Given the description of an element on the screen output the (x, y) to click on. 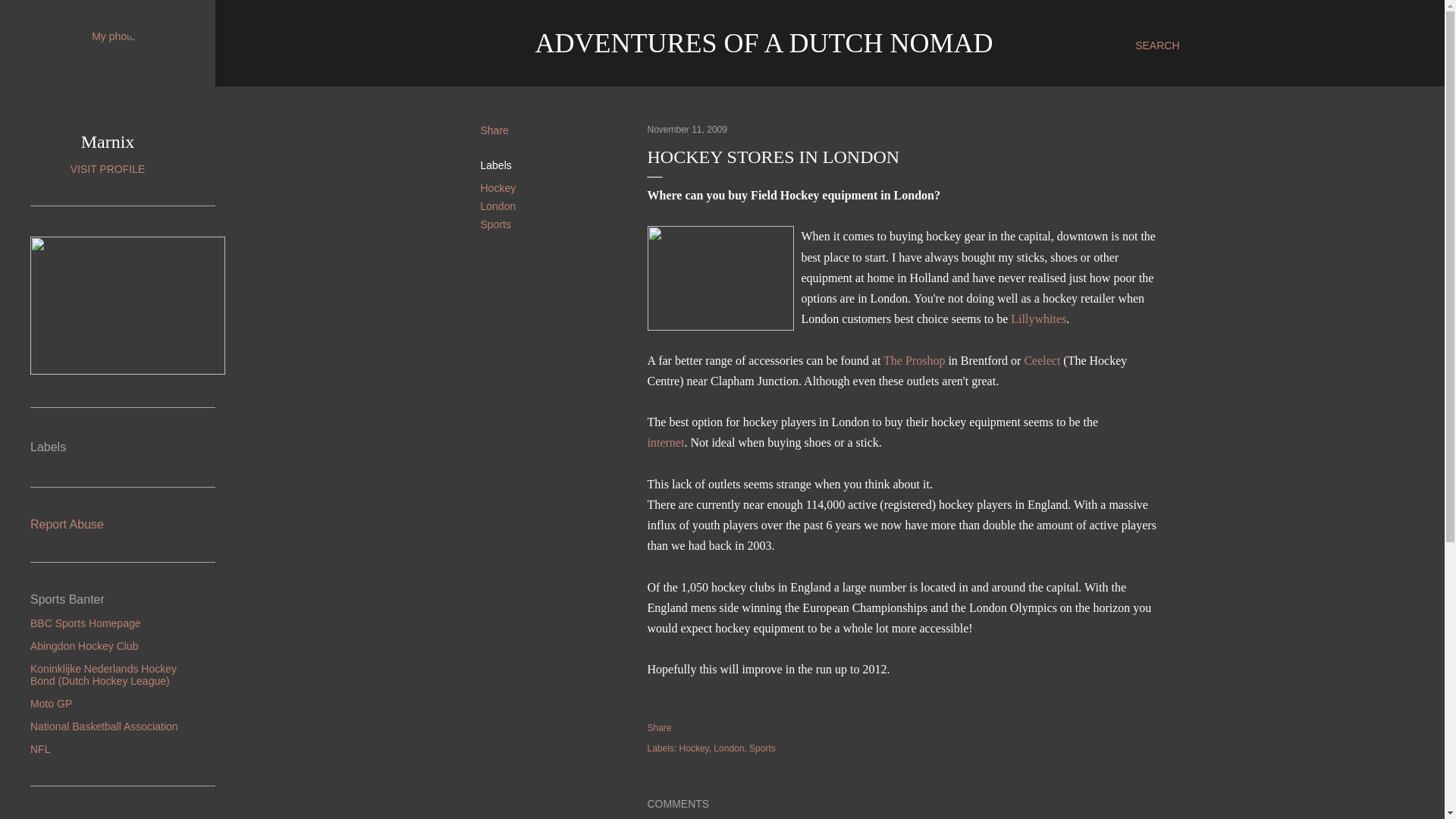
Ceele (1037, 359)
The Proshop (913, 359)
ADVENTURES OF A DUTCH NOMAD (763, 42)
Sports (762, 747)
VISIT PROFILE (107, 168)
November 11, 2009 (686, 129)
Hockey (695, 747)
London (498, 205)
ct (1056, 359)
London (729, 747)
permanent link (686, 129)
Marnix (107, 141)
Sports (495, 224)
internet (665, 441)
SEARCH (1157, 45)
